Given the description of an element on the screen output the (x, y) to click on. 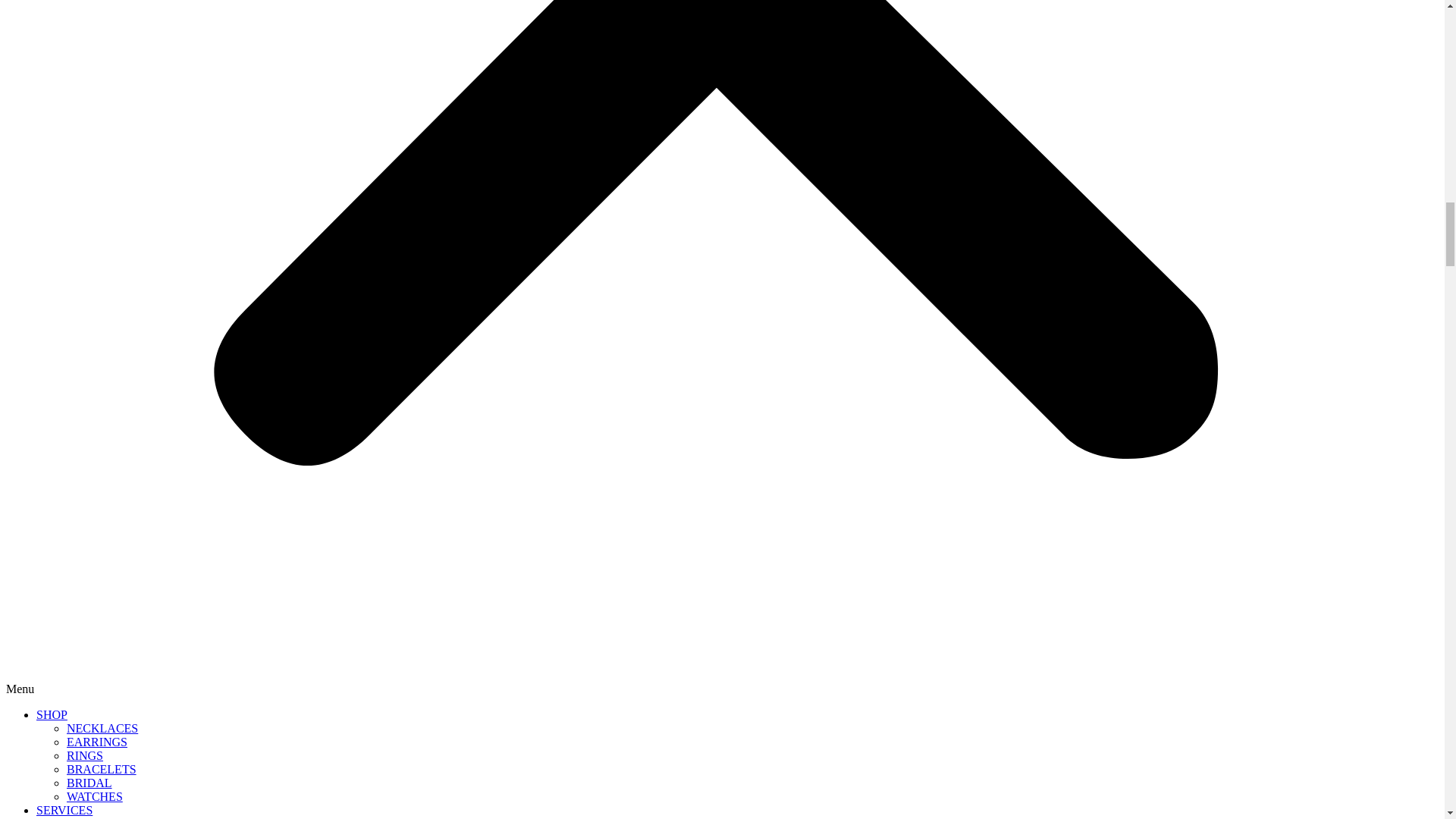
EARRINGS (97, 741)
BRIDAL (89, 782)
BRACELETS (101, 768)
RINGS (84, 755)
SHOP (51, 714)
NECKLACES (102, 727)
SERVICES (64, 809)
WATCHES (94, 796)
COLLECTIONS (77, 818)
